Given the description of an element on the screen output the (x, y) to click on. 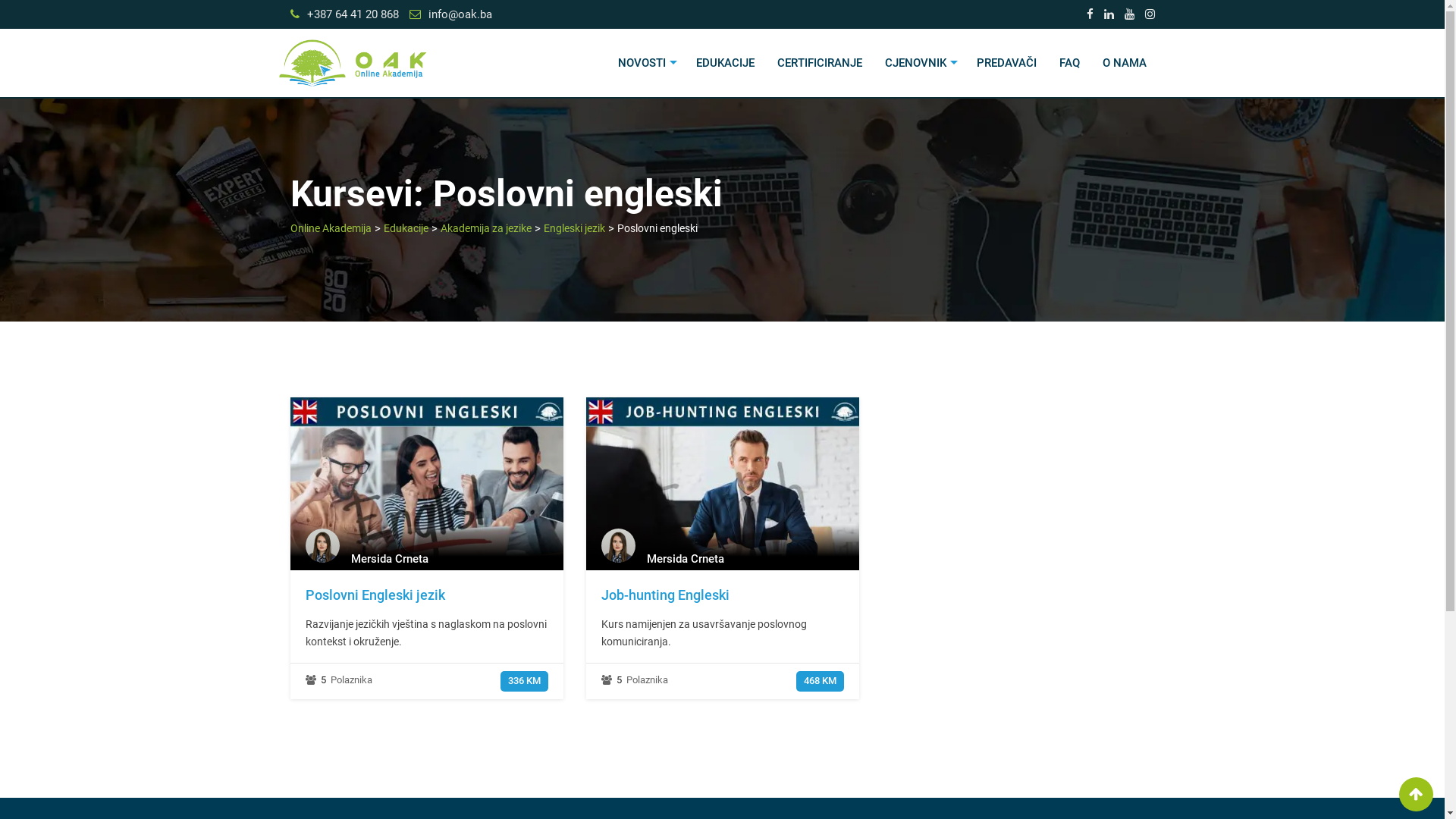
Engleski jezik Element type: text (573, 228)
CJENOVNIK Element type: text (919, 62)
CERTIFICIRANJE Element type: text (819, 62)
Mersida Crneta Element type: text (684, 558)
NOVOSTI Element type: text (645, 62)
336 KM Element type: text (524, 680)
Edukacije Element type: text (405, 228)
Job-hunting Engleski Element type: hover (721, 523)
O NAMA Element type: text (1123, 62)
info@oak.ba Element type: text (459, 14)
Akademija za jezike Element type: text (484, 228)
Mersida Crneta Element type: text (388, 558)
EDUKACIJE Element type: text (724, 62)
Poslovni Engleski jezik Element type: text (374, 594)
FAQ Element type: text (1069, 62)
Skip to content Element type: text (0, 0)
Online Akademija Element type: text (329, 228)
Job-hunting Engleski Element type: text (664, 594)
468 KM Element type: text (820, 680)
+387 64 41 20 868 Element type: text (352, 14)
Poslovni Engleski jezik Element type: hover (425, 523)
